Given the description of an element on the screen output the (x, y) to click on. 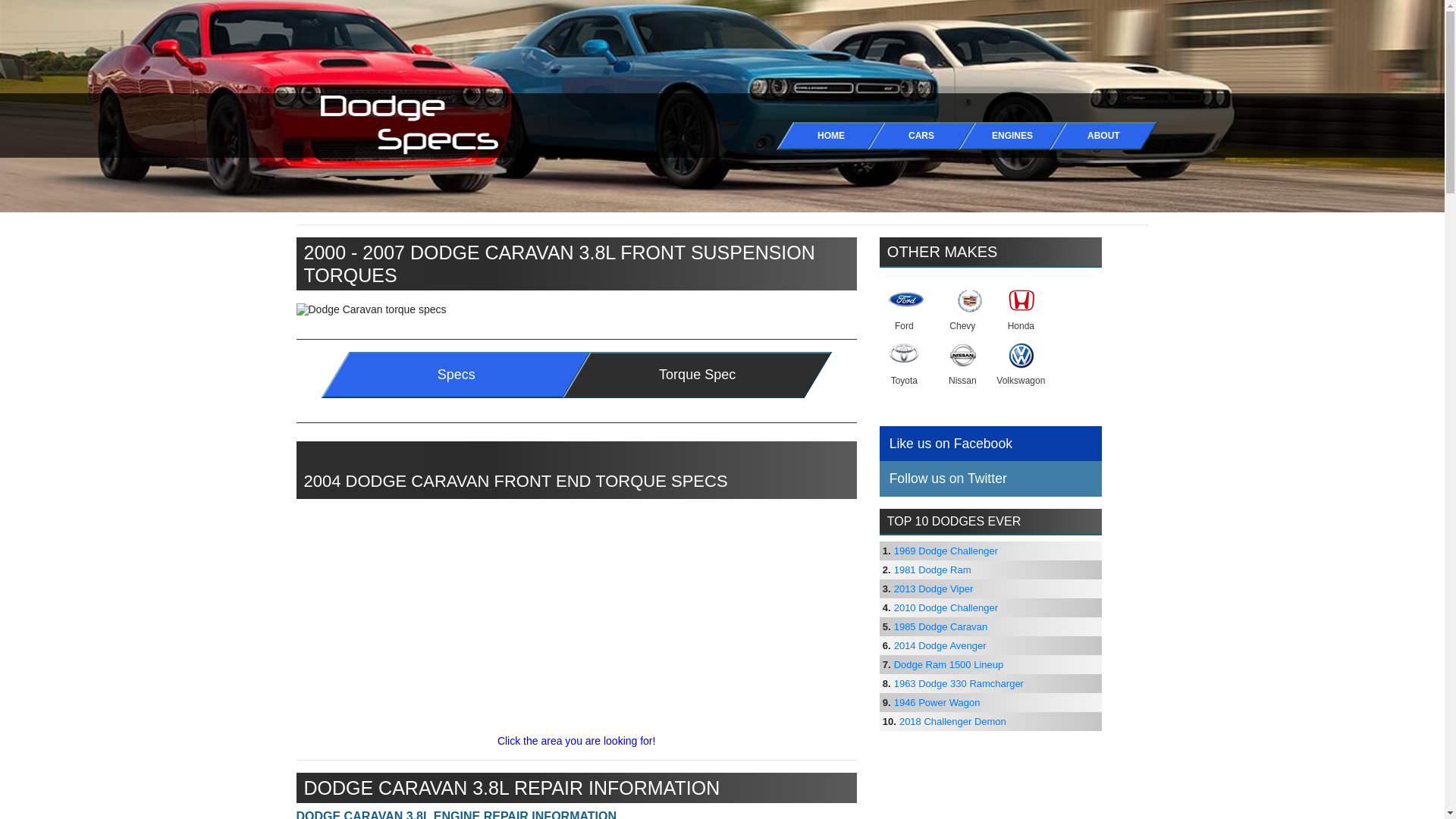
Honda (1020, 307)
1963 Dodge 330 Ramcharger (958, 683)
CARS (912, 135)
Specs (451, 374)
Volkswagon (1020, 362)
ABOUT (1094, 135)
2010 Dodge Challenger (945, 607)
1946 Power Wagon (936, 702)
HOME (821, 135)
Chevy (962, 307)
Follow us on Twitter (990, 478)
Nissan (962, 362)
Toyota (903, 362)
1969 Dodge Challenger (945, 550)
Torque Spec (693, 374)
